Given the description of an element on the screen output the (x, y) to click on. 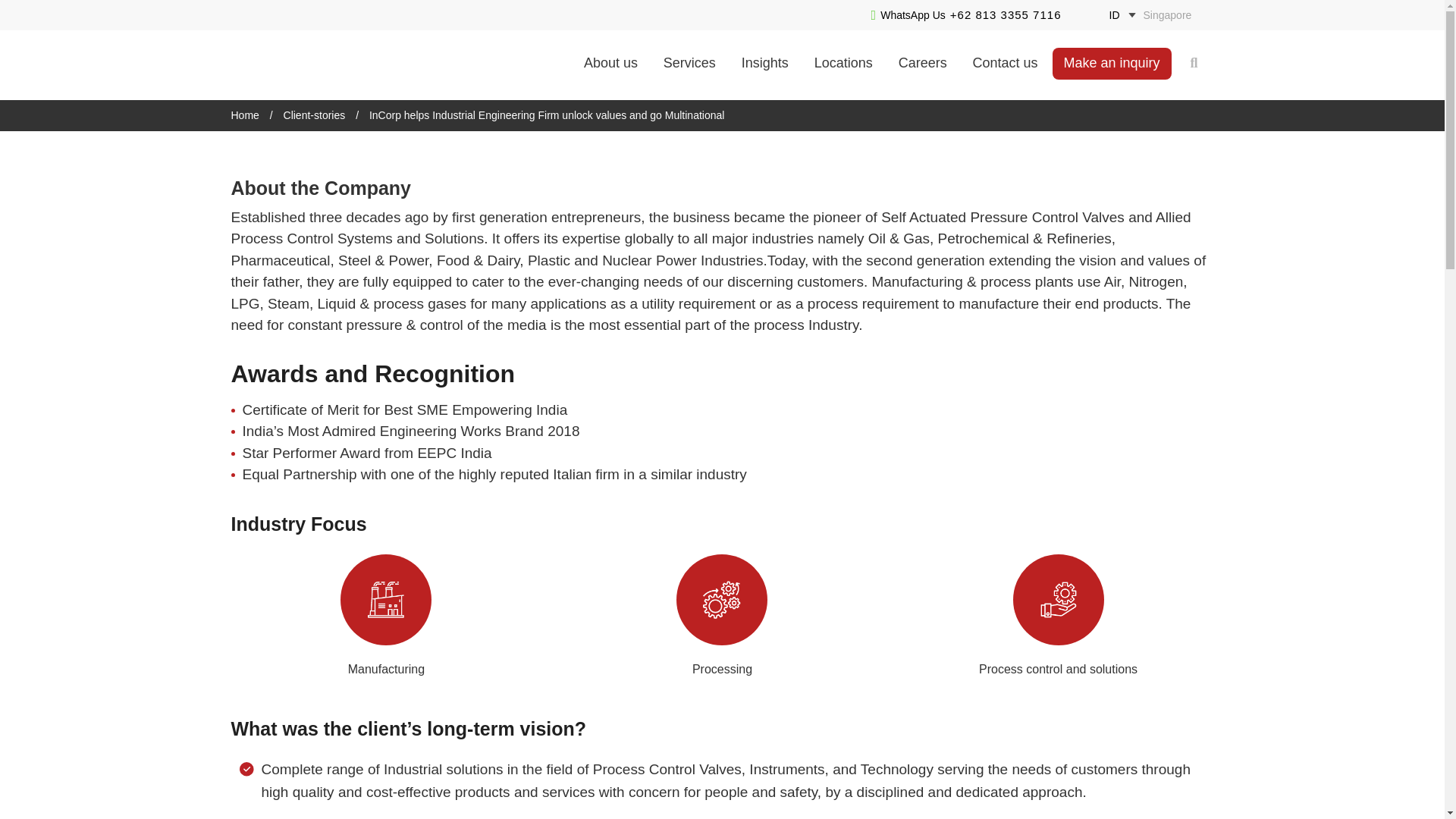
InCorp Indonesia (305, 64)
Services (689, 63)
About us (610, 63)
